Given the description of an element on the screen output the (x, y) to click on. 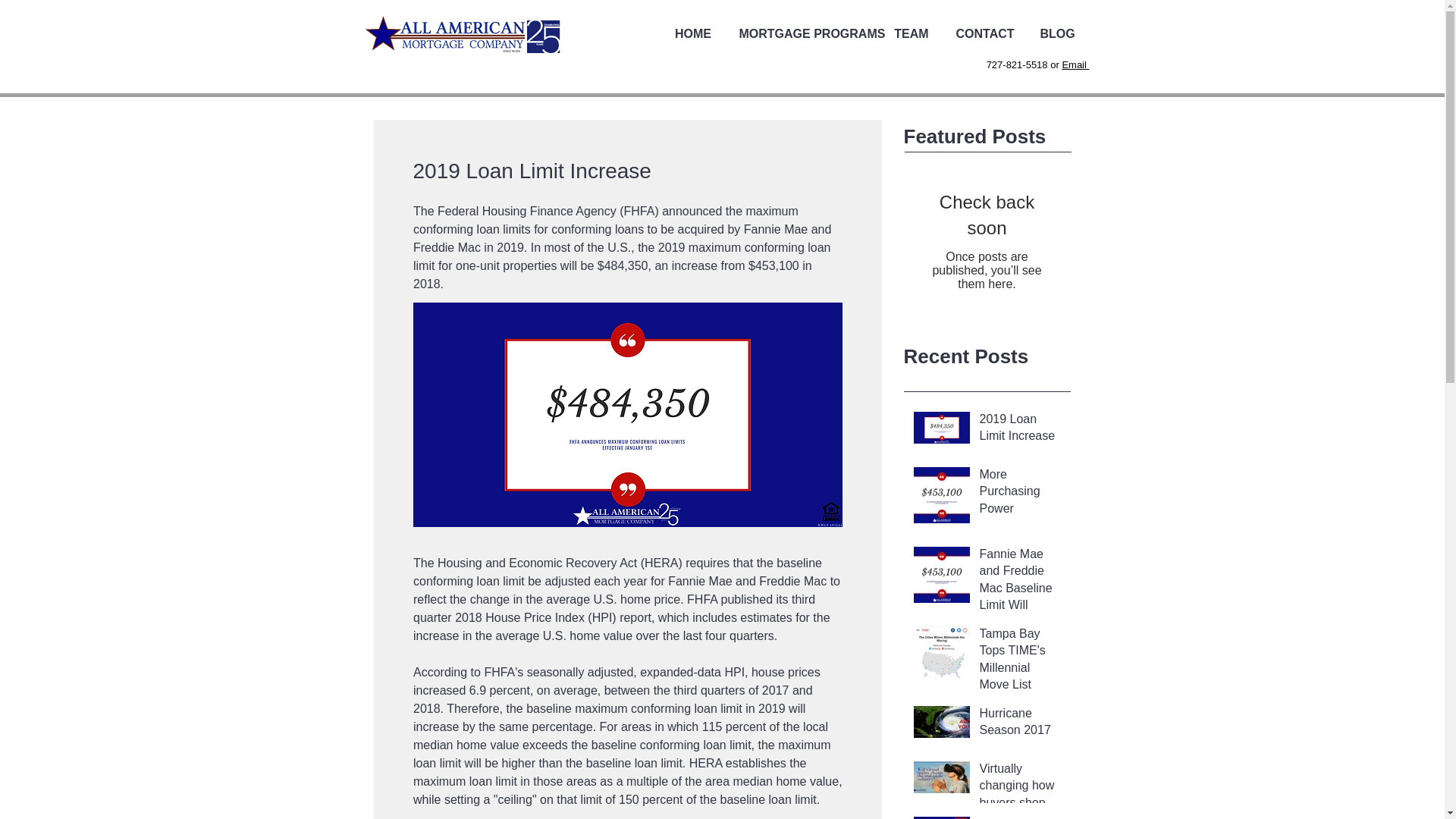
VA Loans 201 Next Step, Docs (1020, 817)
TEAM (910, 34)
Email  (1075, 64)
Hurricane Season 2017 (1020, 725)
2019 Loan Limit Increase (1020, 431)
Tampa Bay Tops TIME's Millennial Move List (1020, 662)
More Purchasing Power (1020, 494)
CONTACT (985, 34)
MORTGAGE PROGRAMS (803, 34)
Virtually changing how buyers shop for new homes (1020, 789)
